Given the description of an element on the screen output the (x, y) to click on. 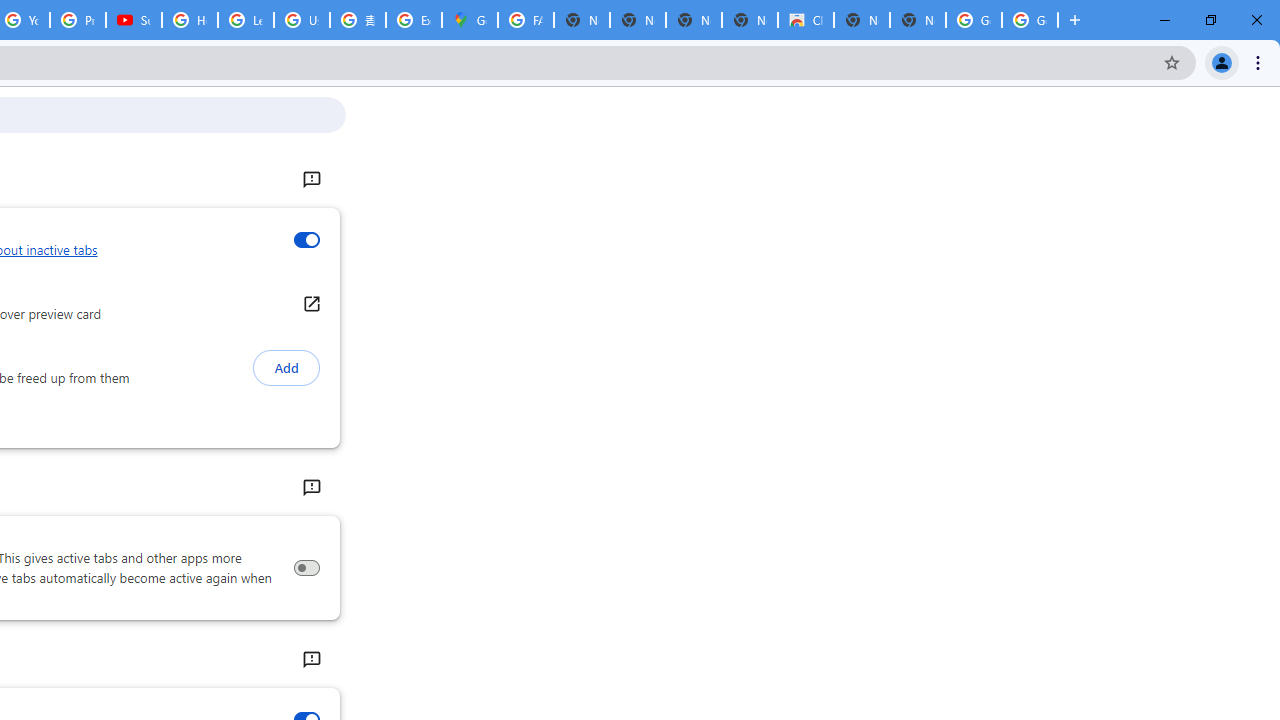
Memory (310, 488)
Google Maps (469, 20)
Inactive tabs appearance (306, 240)
Memory Saver (306, 568)
Chrome Web Store (806, 20)
Speed (310, 659)
Add to the "always keep these sites active" list (286, 368)
General (310, 179)
